Given the description of an element on the screen output the (x, y) to click on. 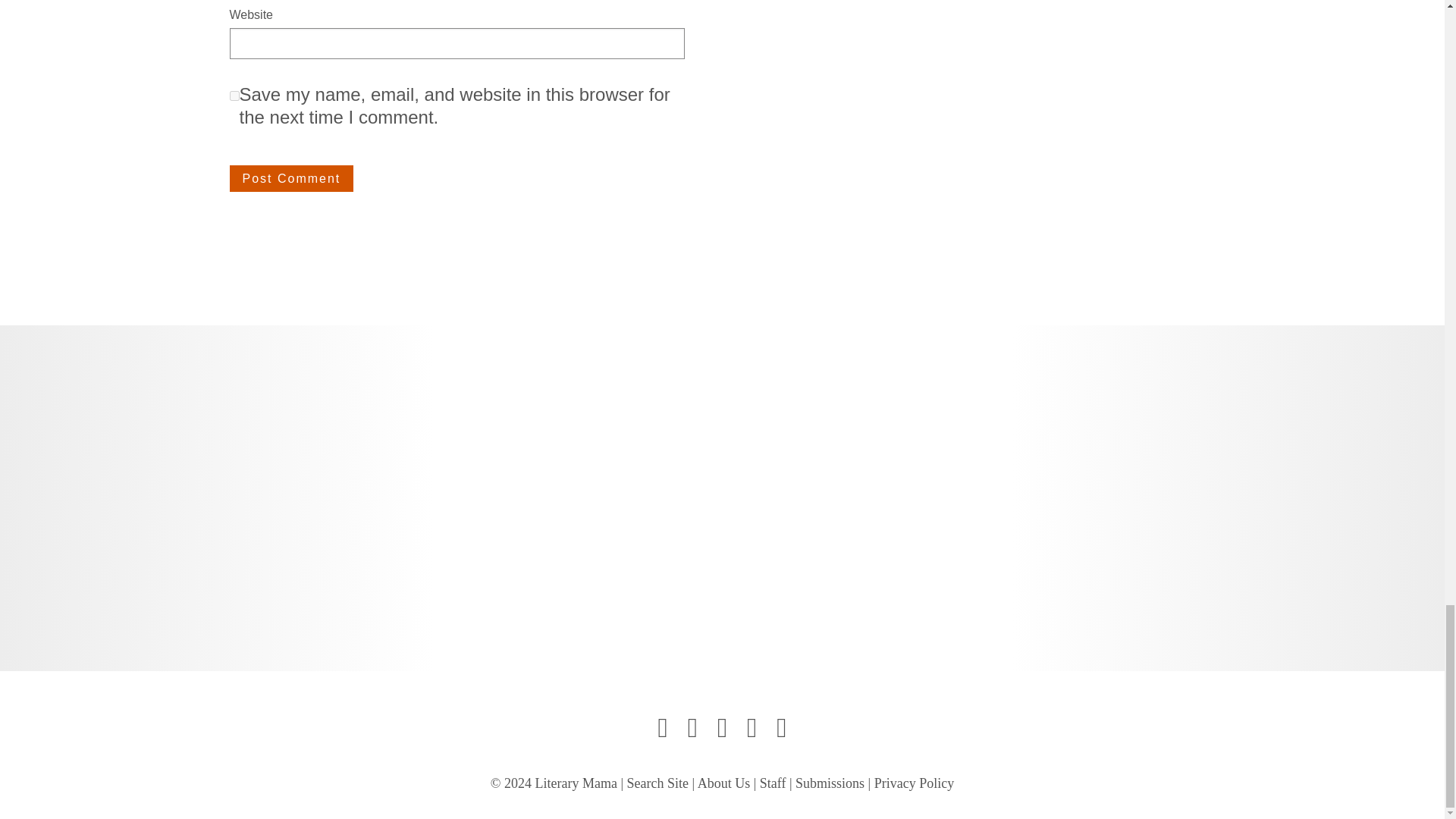
Post Comment (290, 178)
yes (233, 95)
Post Comment (290, 178)
